Given the description of an element on the screen output the (x, y) to click on. 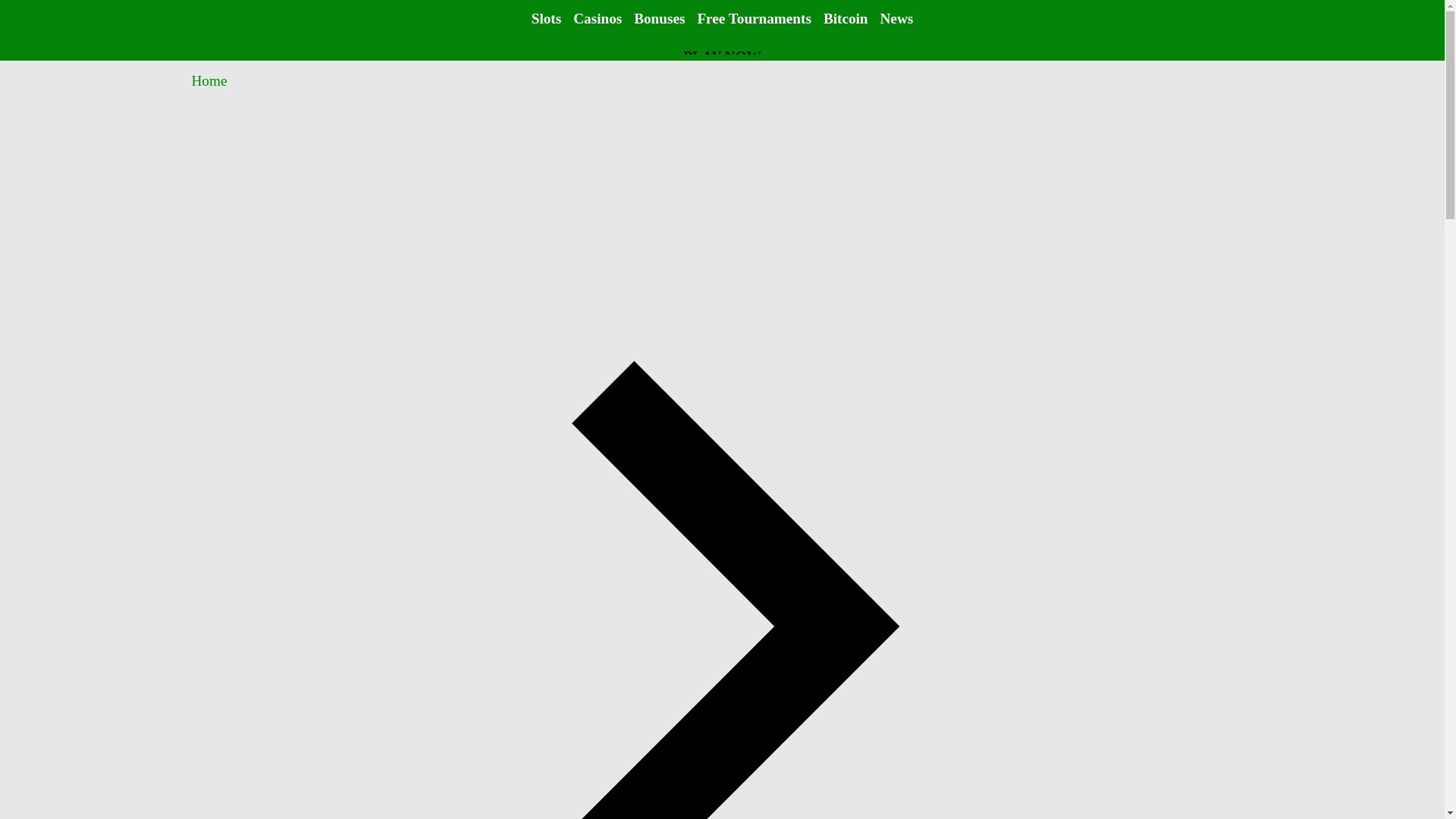
News (897, 18)
PLAY NOW (722, 57)
Bitcoin (845, 18)
Free Tournaments (753, 18)
Home (208, 80)
Slots (546, 18)
Casinos (597, 18)
Bonuses (658, 18)
